Given the description of an element on the screen output the (x, y) to click on. 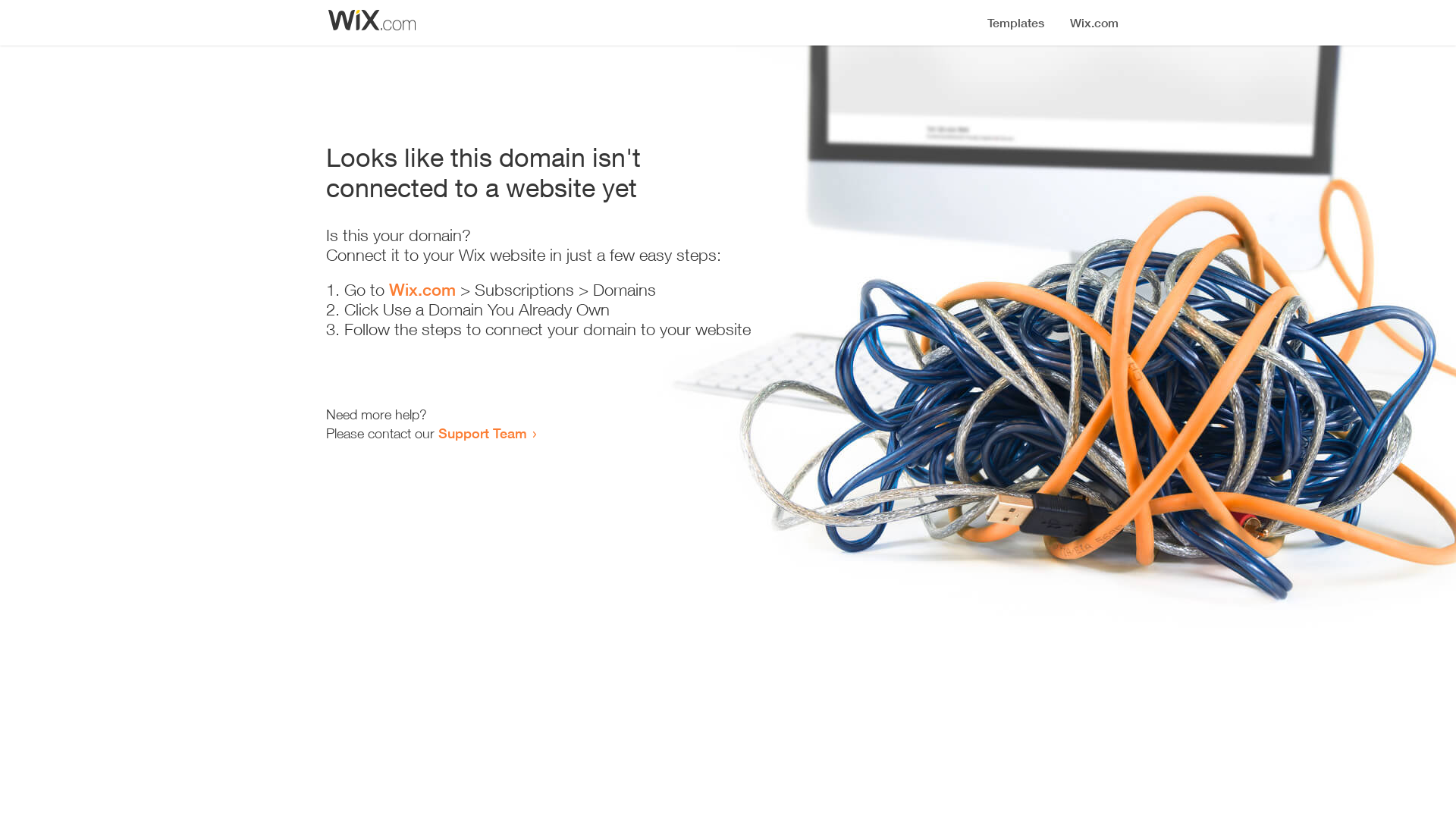
Wix.com Element type: text (422, 289)
Support Team Element type: text (482, 432)
